Given the description of an element on the screen output the (x, y) to click on. 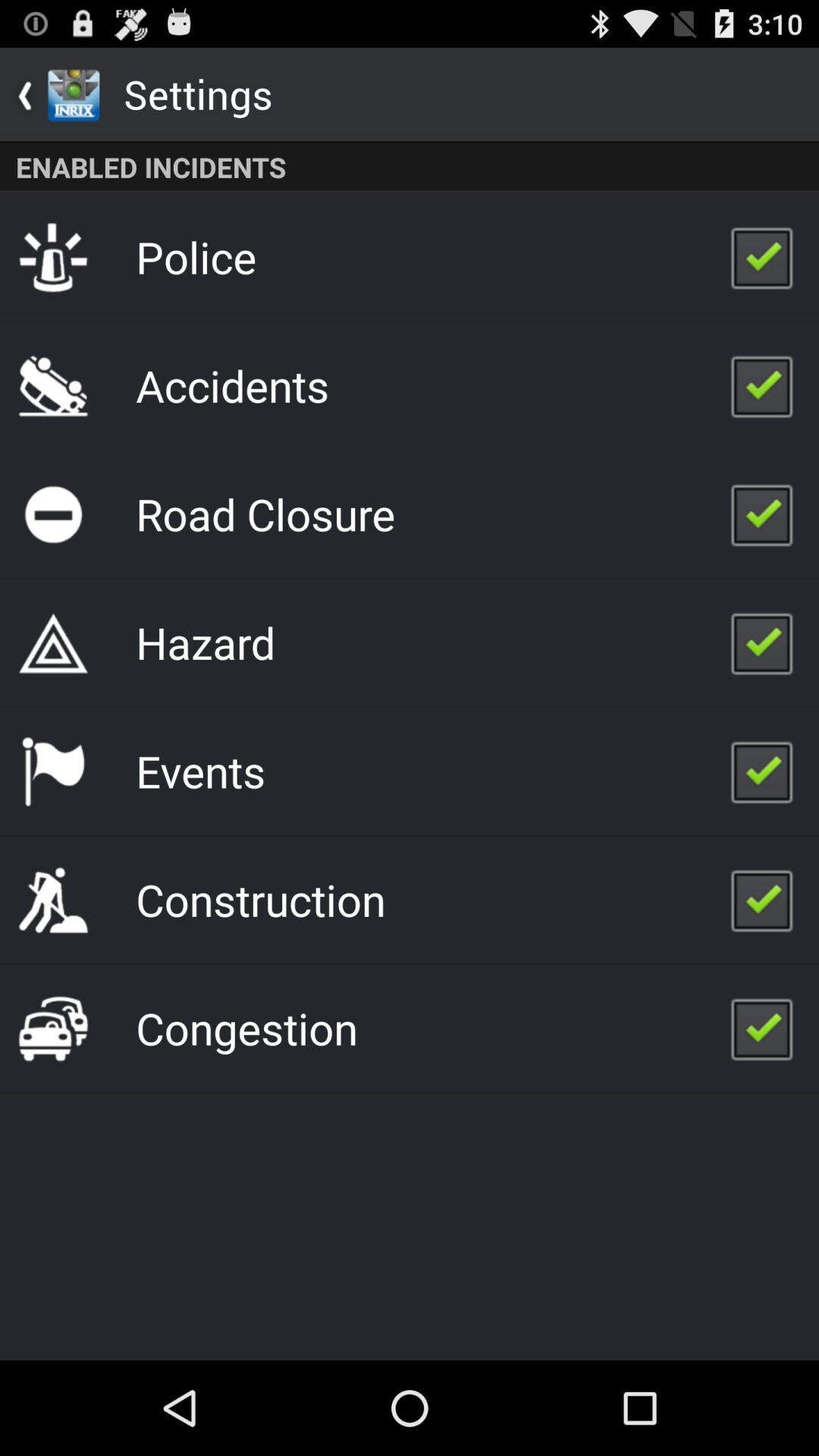
scroll until the events item (200, 770)
